Given the description of an element on the screen output the (x, y) to click on. 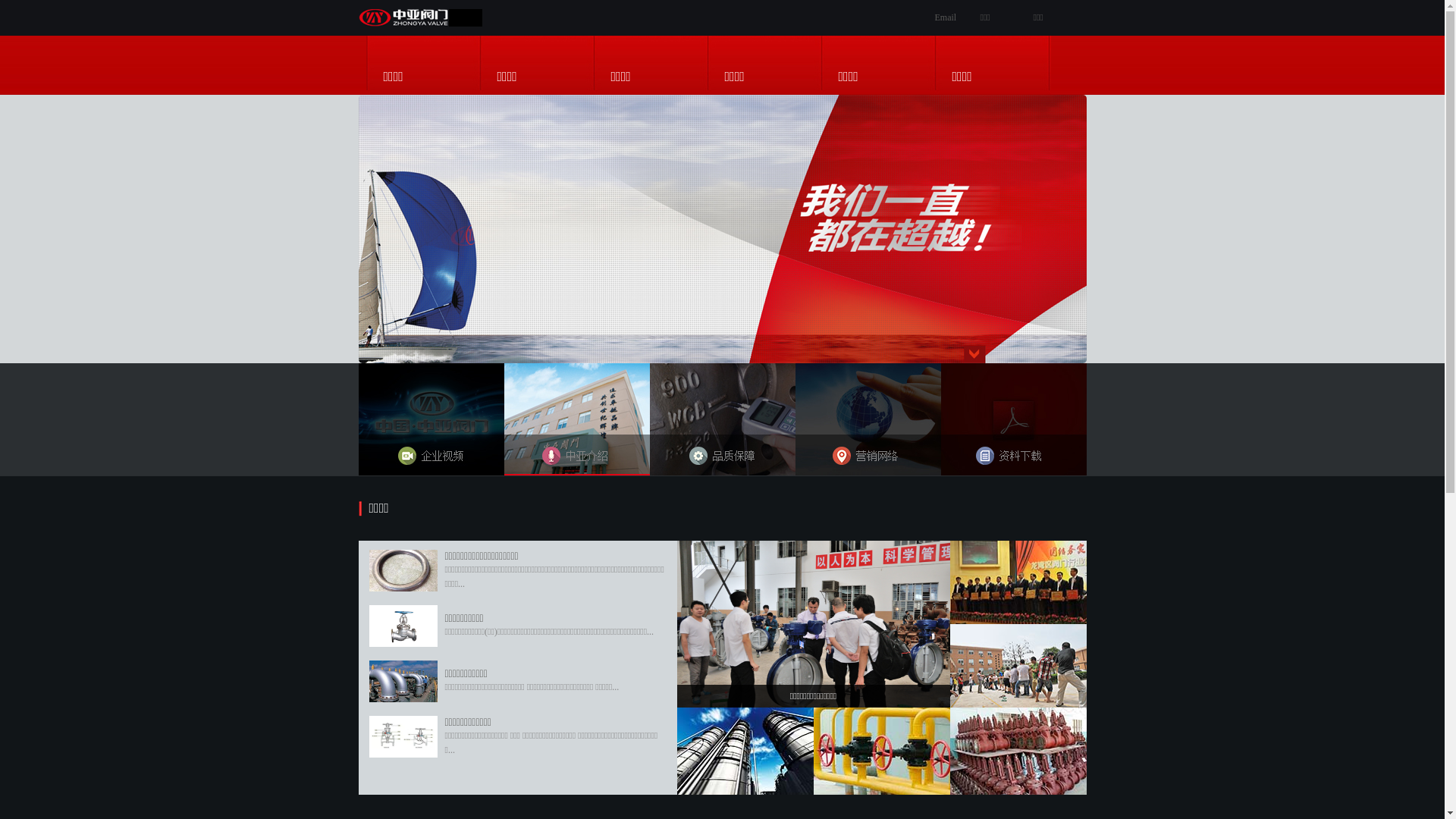
Email Element type: text (945, 17)
